Given the description of an element on the screen output the (x, y) to click on. 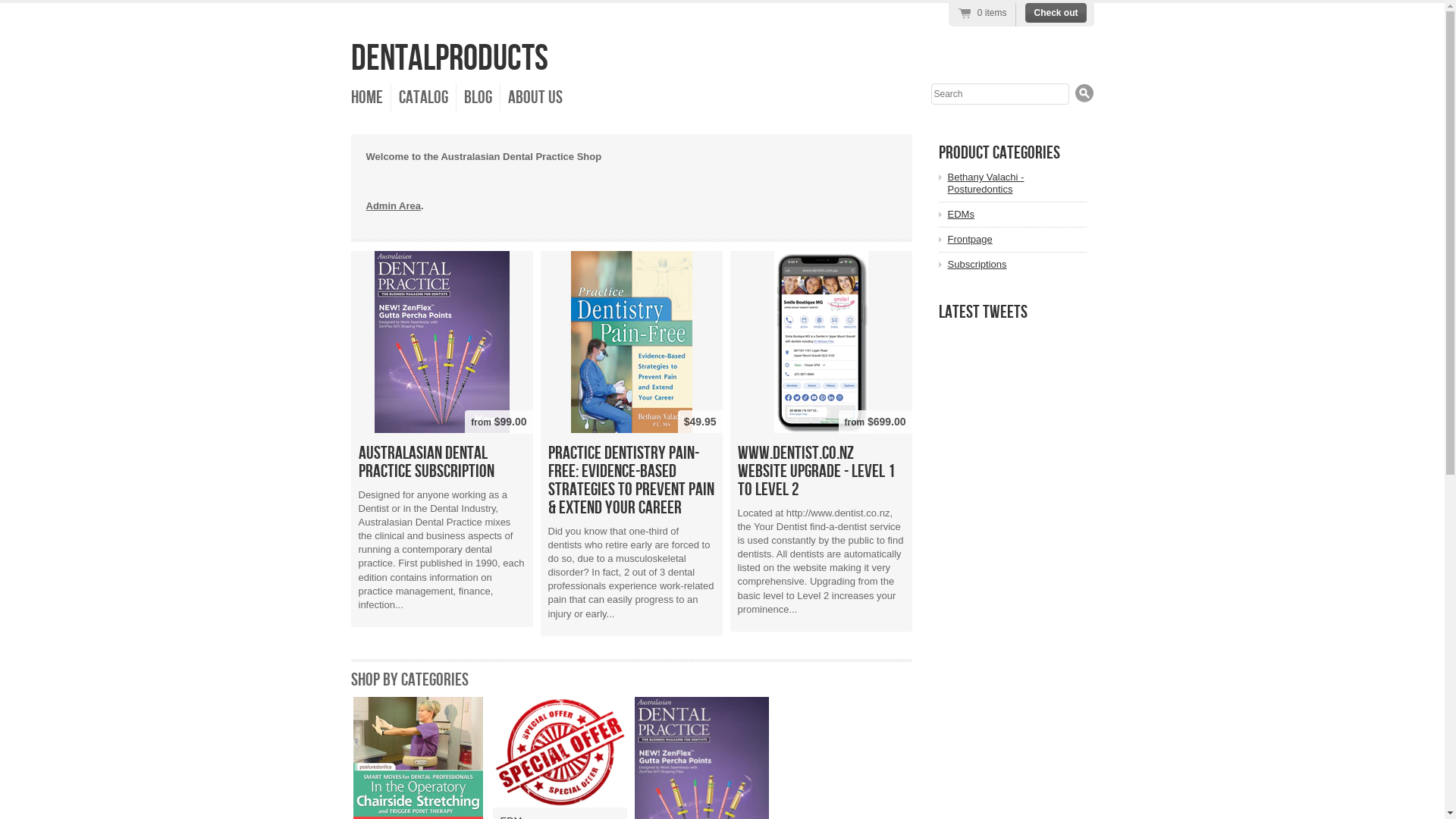
Catalog Element type: text (423, 97)
dentalproducts Element type: text (448, 58)
Subscriptions Element type: text (1016, 264)
Australasian Dental Practice Subscription Element type: hover (441, 341)
Browse our EDMs collection Element type: hover (559, 752)
www.dentist.co.nz website upgrade - Level 1 to Level 2 Element type: hover (820, 341)
Blog Element type: text (478, 97)
Home Element type: text (366, 97)
Search Element type: text (1084, 92)
Bethany Valachi - Posturedontics Element type: text (1016, 183)
Frontpage Element type: text (1016, 239)
Admin Area Element type: text (392, 205)
EDMs Element type: text (1016, 214)
Product Categories Element type: text (999, 152)
www.dentist.co.nz website upgrade - Level 1 to Level 2 Element type: text (820, 471)
Shop by categories Element type: text (408, 679)
About Us Element type: text (535, 97)
Frontpage Element type: text (382, 258)
Australasian Dental Practice Subscription Element type: text (440, 462)
Check out Element type: text (1055, 12)
0 items Element type: text (982, 12)
